Given the description of an element on the screen output the (x, y) to click on. 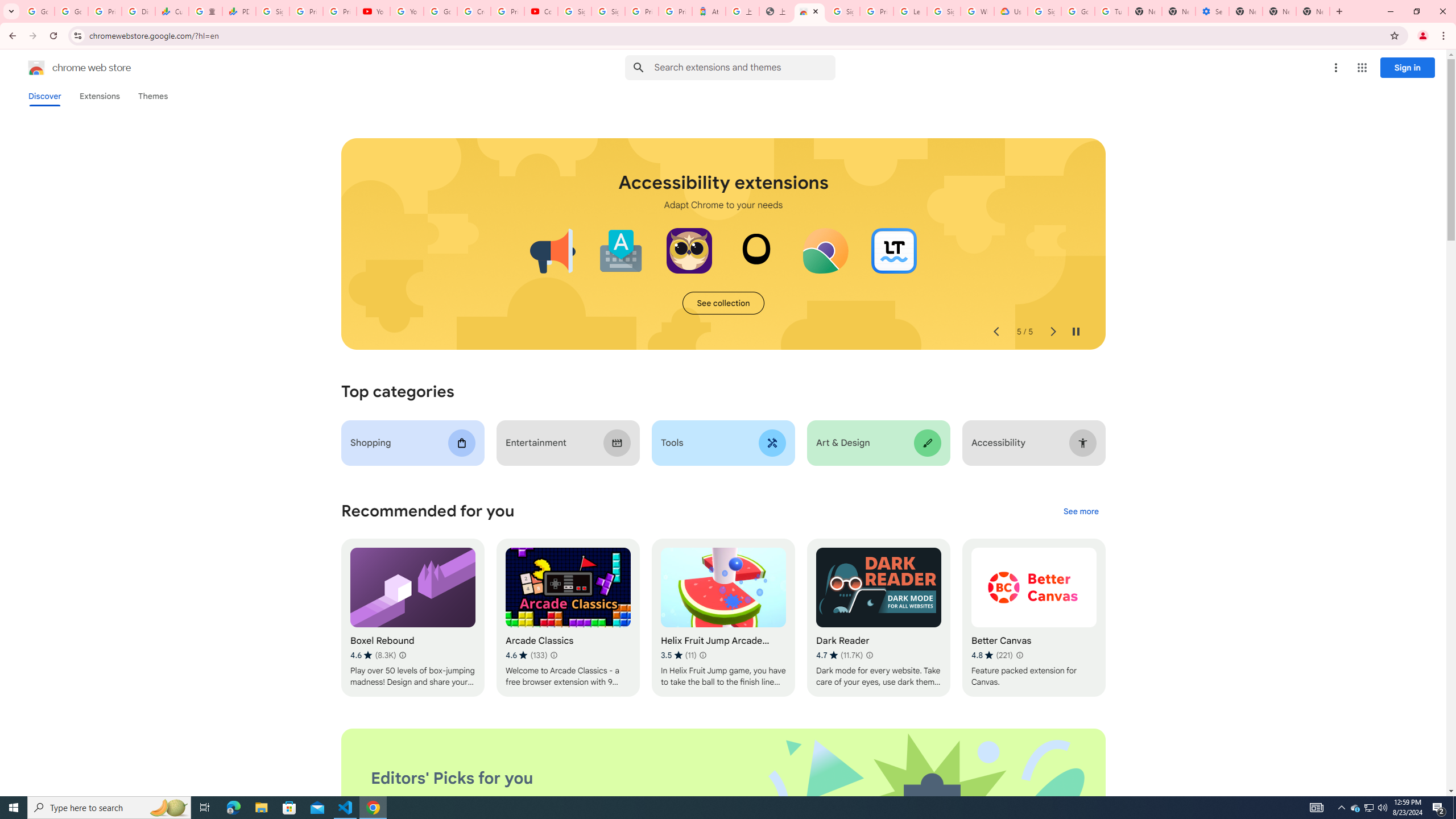
Who are Google's partners? - Privacy and conditions - Google (976, 11)
Helix Fruit Jump Arcade Game (722, 617)
Next slide (1052, 331)
Create your Google Account (474, 11)
Shopping (412, 443)
Average rating 4.7 out of 5 stars. 11.7K ratings. (839, 655)
Chrome Web Store logo (36, 67)
Content Creator Programs & Opportunities - YouTube Creators (541, 11)
Restore (1416, 11)
